Given the description of an element on the screen output the (x, y) to click on. 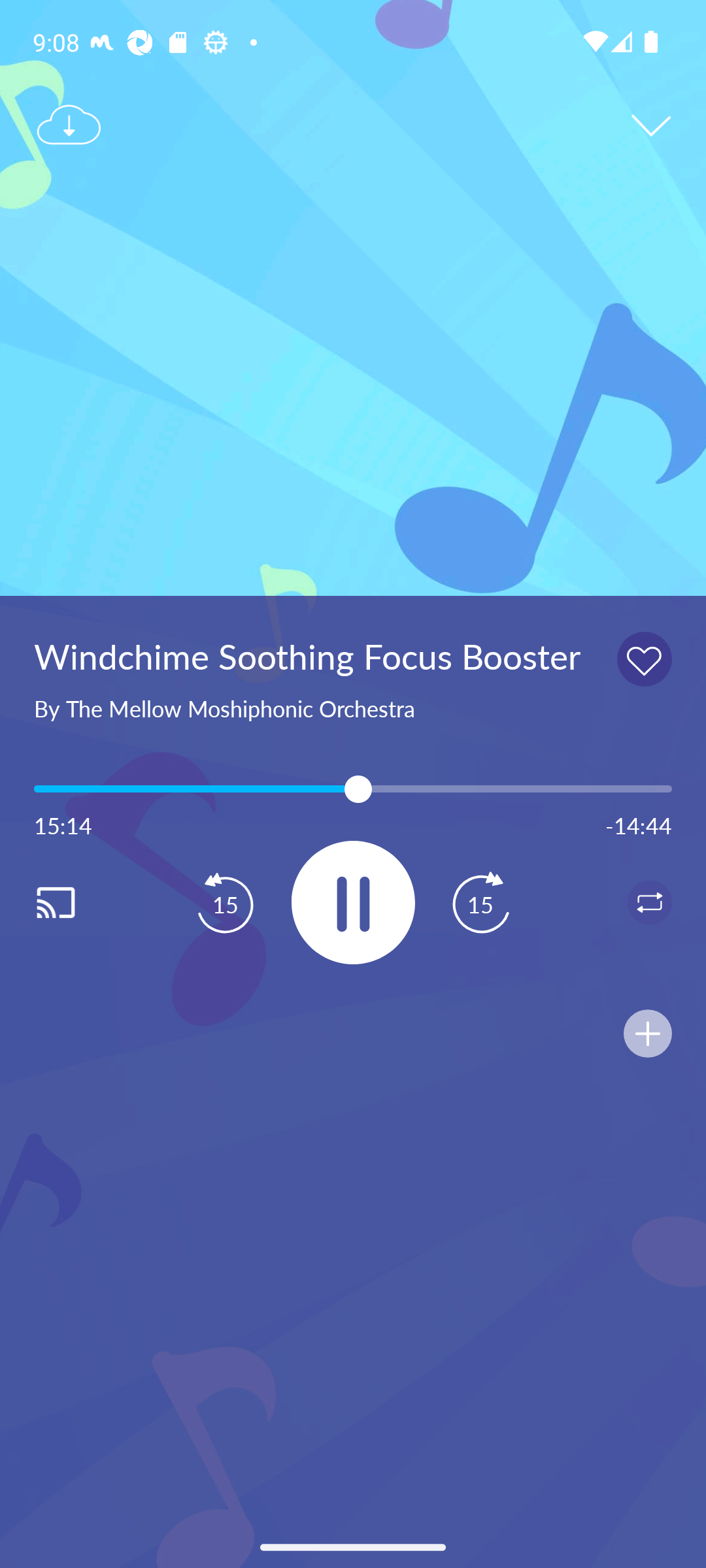
913.0 (352, 789)
Cast. Disconnected (76, 902)
